Given the description of an element on the screen output the (x, y) to click on. 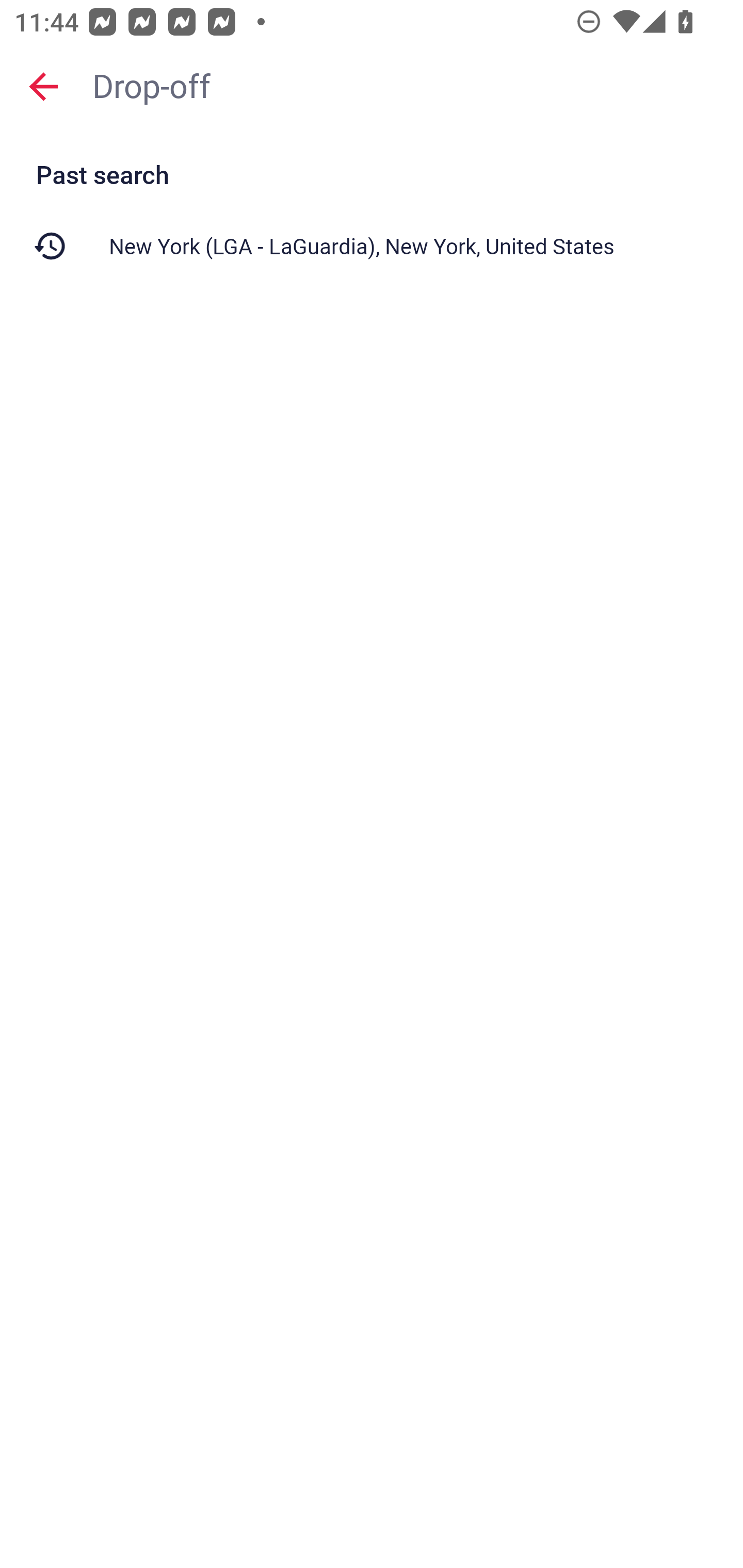
Drop-off,  (407, 85)
Close search screen (43, 86)
